Given the description of an element on the screen output the (x, y) to click on. 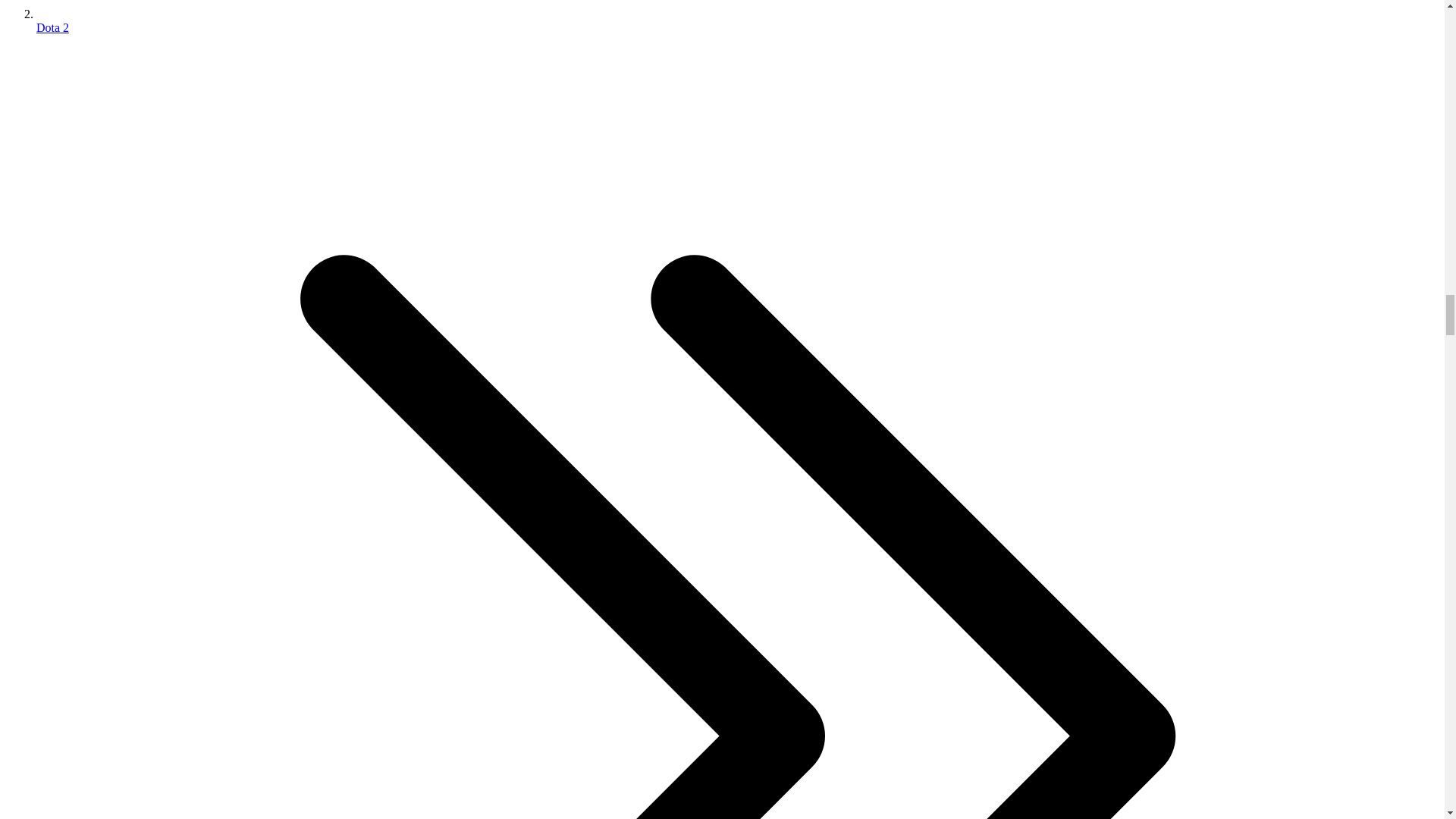
Dota 2 (52, 27)
